Given the description of an element on the screen output the (x, y) to click on. 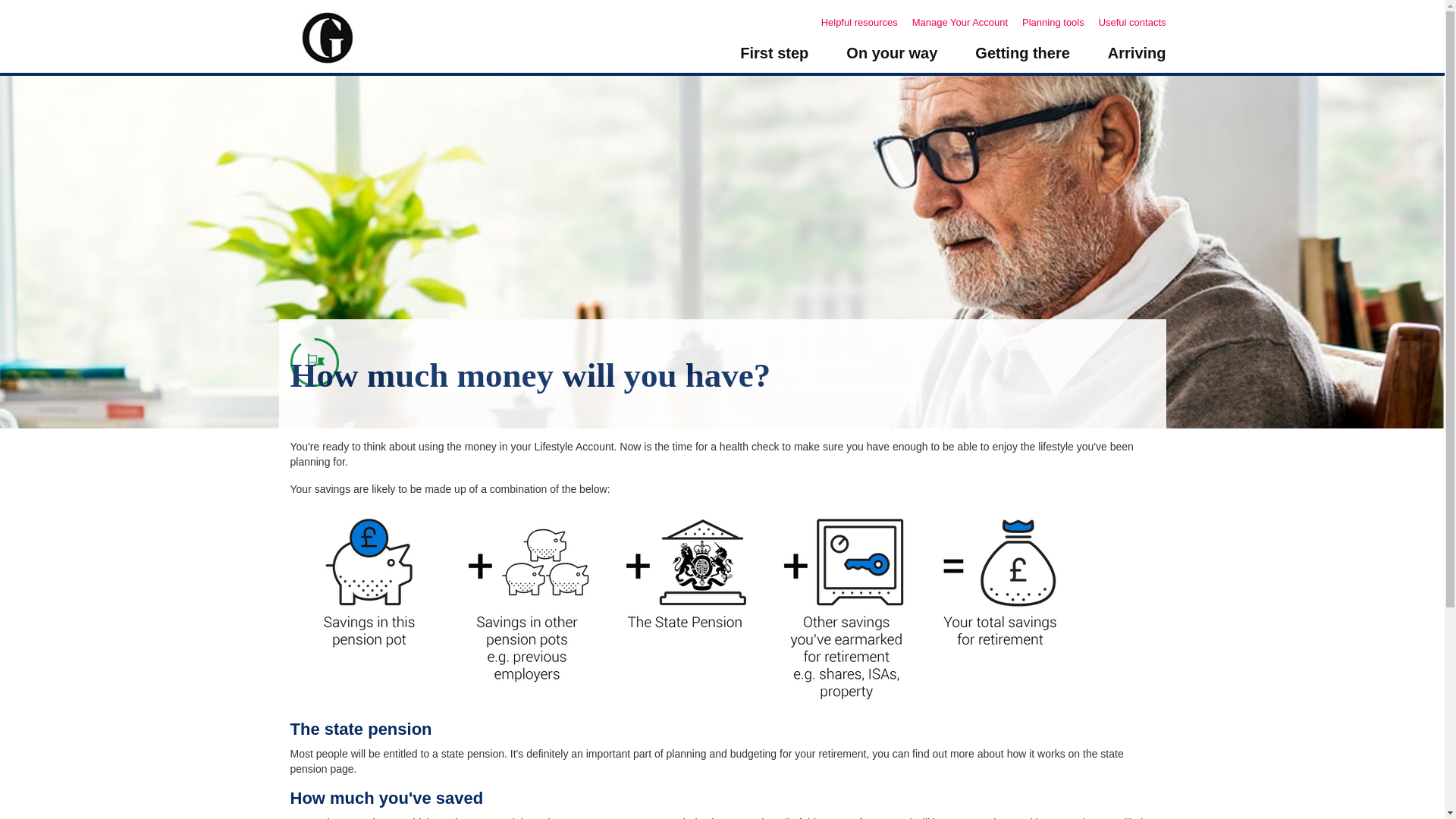
Planning tools (1059, 21)
Helpful resources (864, 21)
Manage Your Account (966, 21)
Useful contacts (1132, 21)
On your way (891, 58)
First step (773, 58)
